Given the description of an element on the screen output the (x, y) to click on. 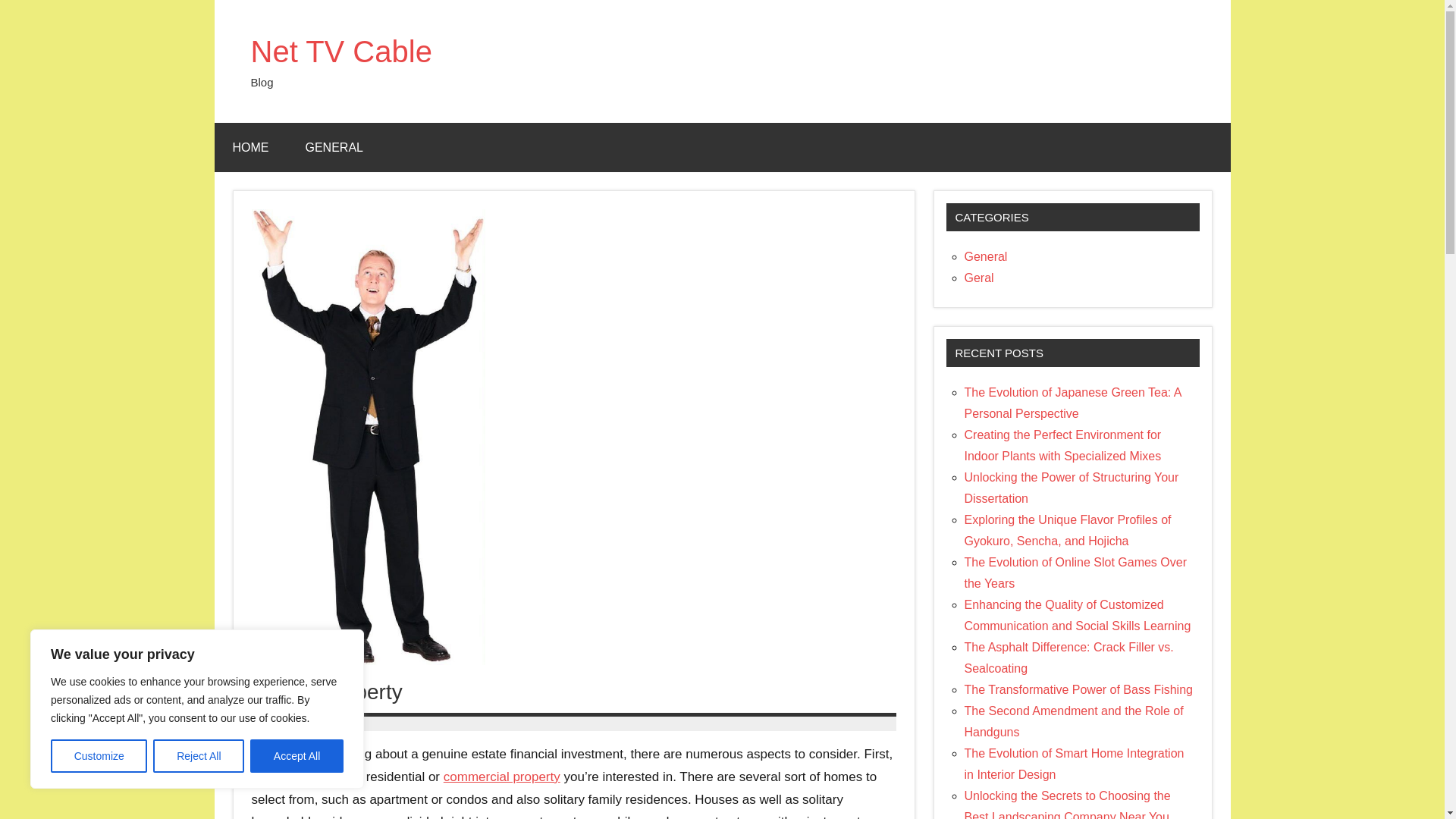
Geral (978, 277)
commercial property (502, 776)
GENERAL (333, 146)
HOME (250, 146)
Unlocking the Power of Structuring Your Dissertation (1071, 487)
Reject All (198, 756)
Customize (98, 756)
The Evolution of Japanese Green Tea: A Personal Perspective (1071, 402)
Net TV Cable (340, 51)
Accept All (296, 756)
The Evolution of Online Slot Games Over the Years (1074, 572)
General (985, 256)
